Given the description of an element on the screen output the (x, y) to click on. 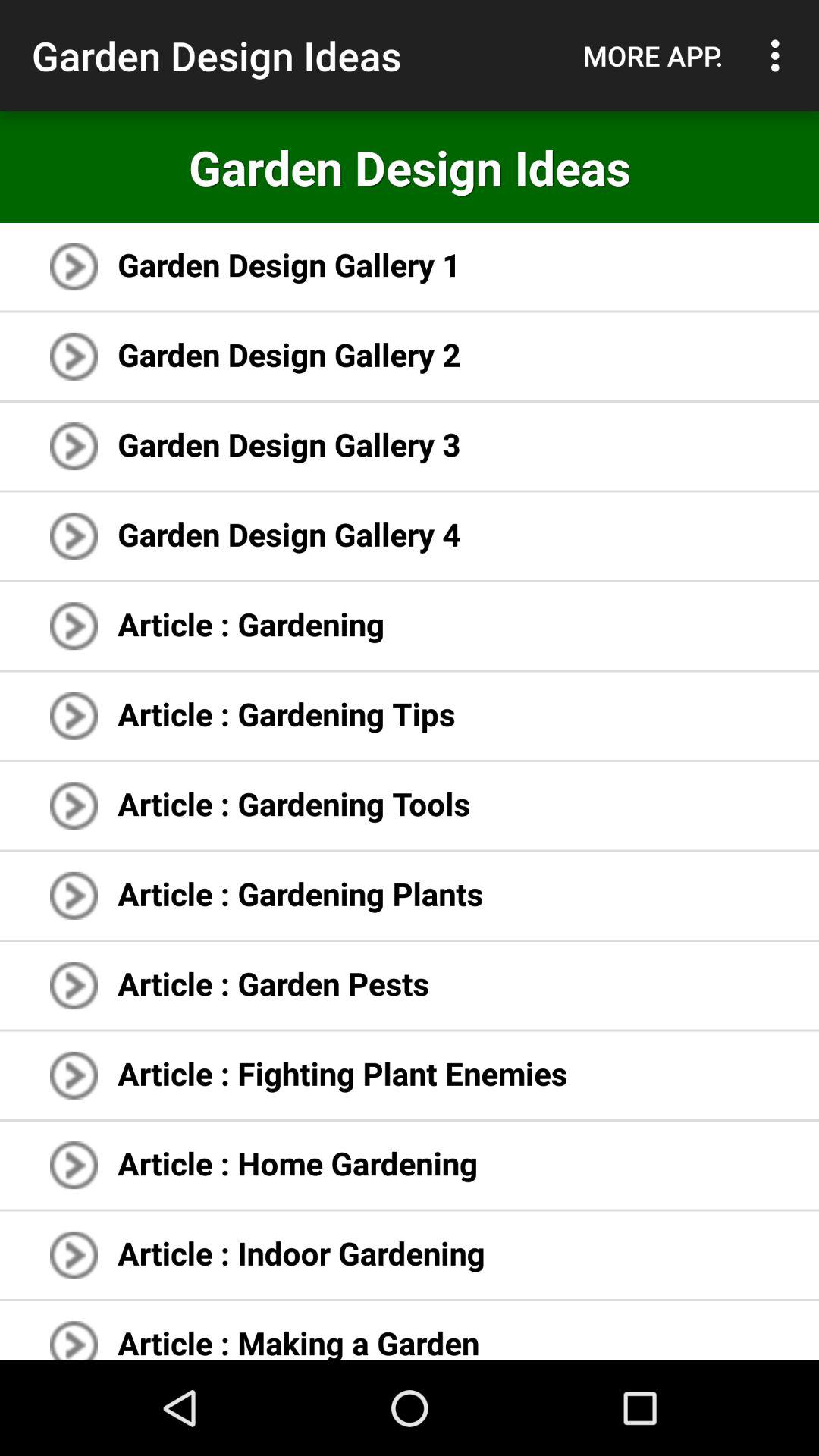
swipe until more app. icon (653, 55)
